Given the description of an element on the screen output the (x, y) to click on. 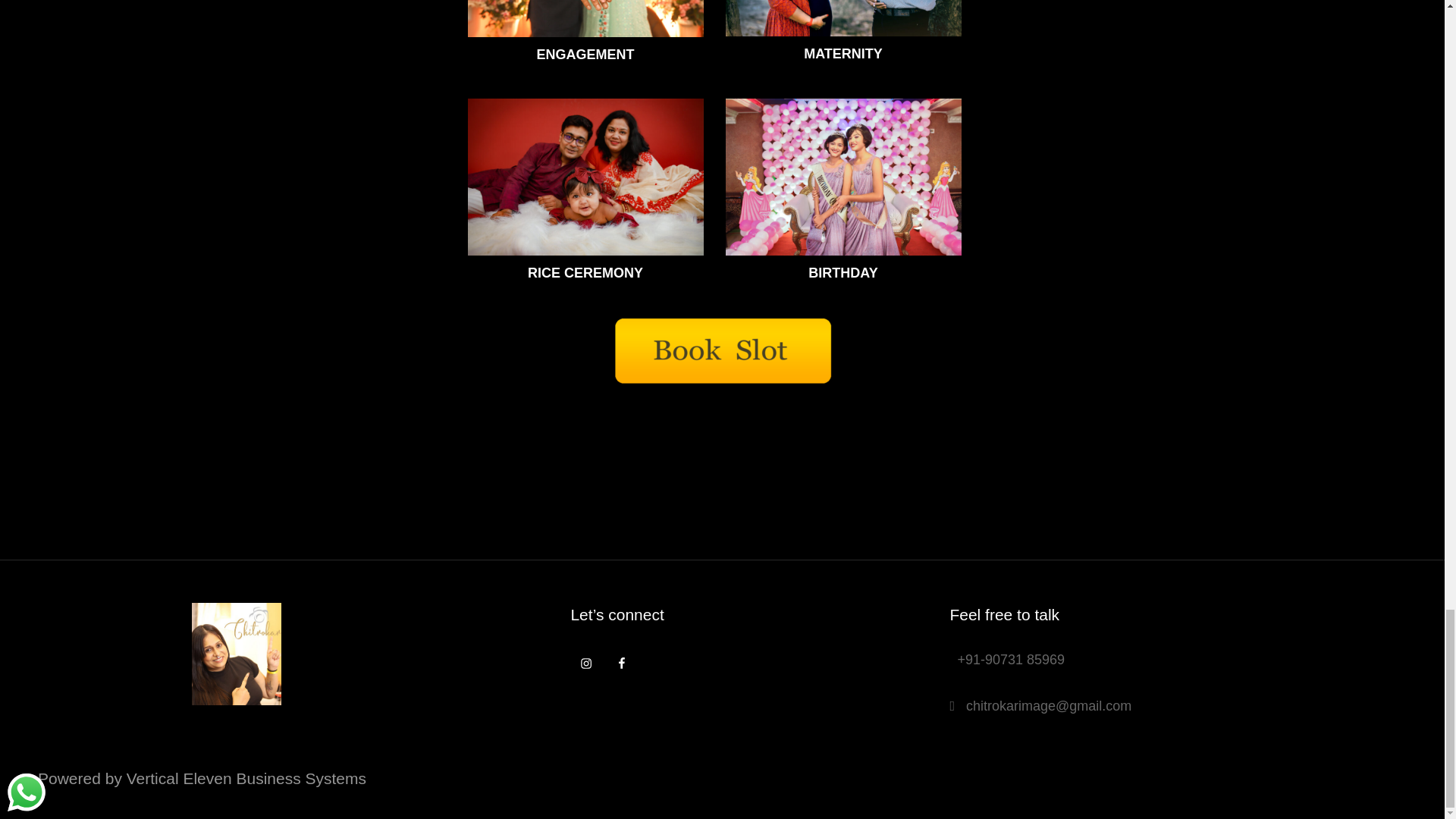
MATERNITY (842, 35)
RICE CEREMONY (585, 192)
BIRTHDAY (842, 192)
ENGAGEMENT (585, 35)
